Given the description of an element on the screen output the (x, y) to click on. 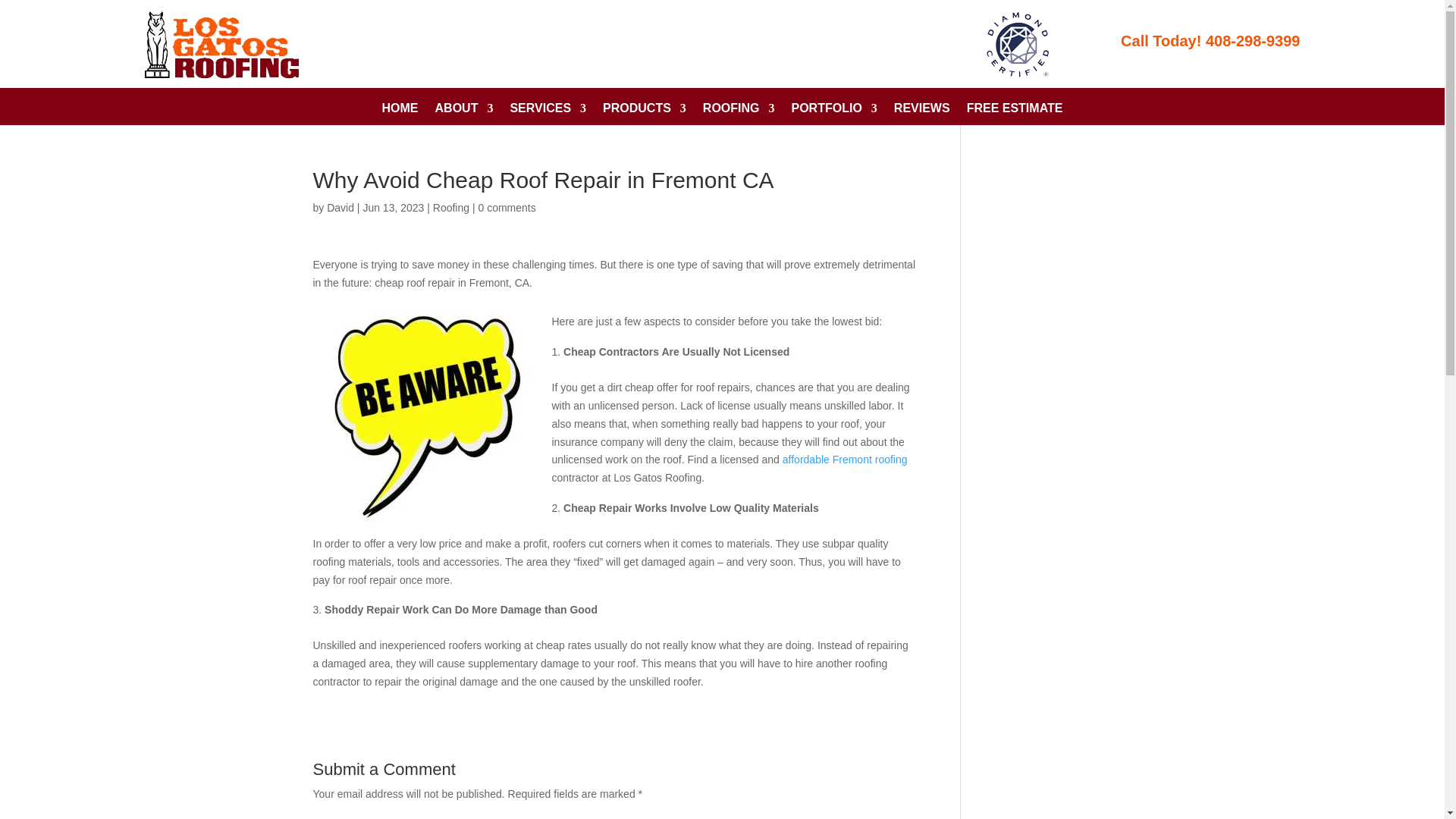
Posts by David (339, 207)
REVIEWS (921, 111)
ROOFING (738, 111)
HOME (400, 111)
David (339, 207)
FREE ESTIMATE (1014, 111)
logo-right (1019, 44)
SERVICES (547, 111)
PORTFOLIO (834, 111)
affordable Fremont roofing (845, 459)
